Given the description of an element on the screen output the (x, y) to click on. 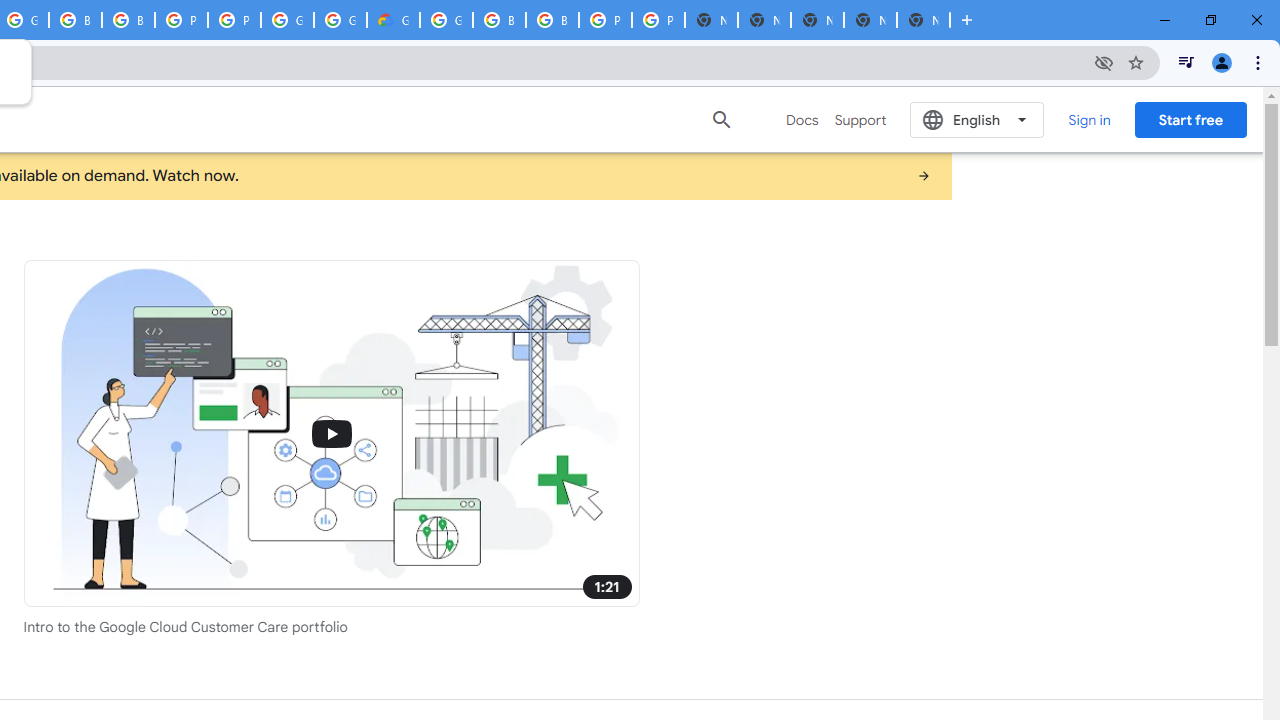
Docs (802, 119)
Start free (1190, 119)
Google Cloud Platform (340, 20)
Browse Chrome as a guest - Computer - Google Chrome Help (499, 20)
Support illustration (331, 432)
Google Cloud Estimate Summary (393, 20)
Support (860, 119)
